Given the description of an element on the screen output the (x, y) to click on. 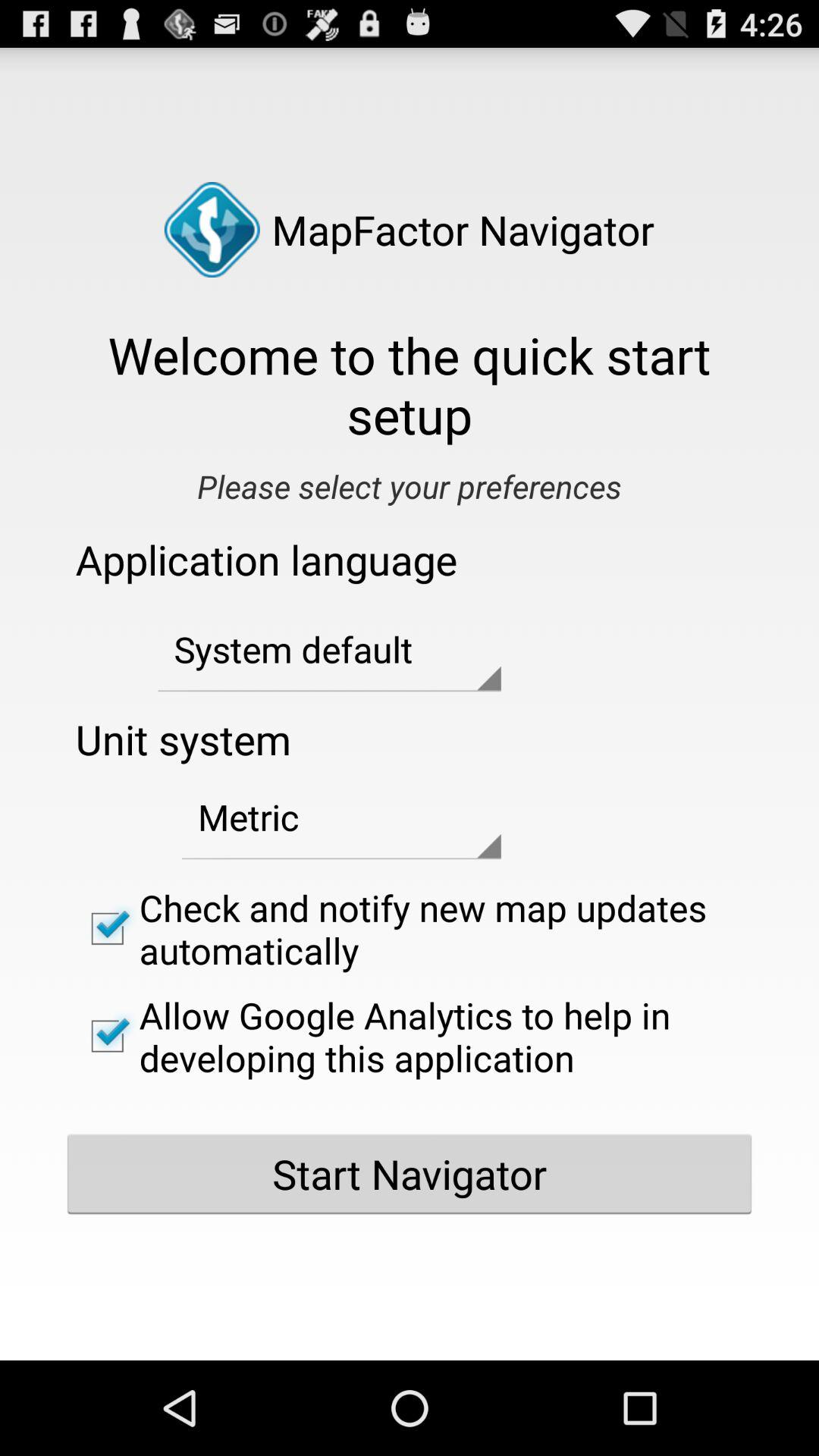
choose item below the check and notify (409, 1036)
